Given the description of an element on the screen output the (x, y) to click on. 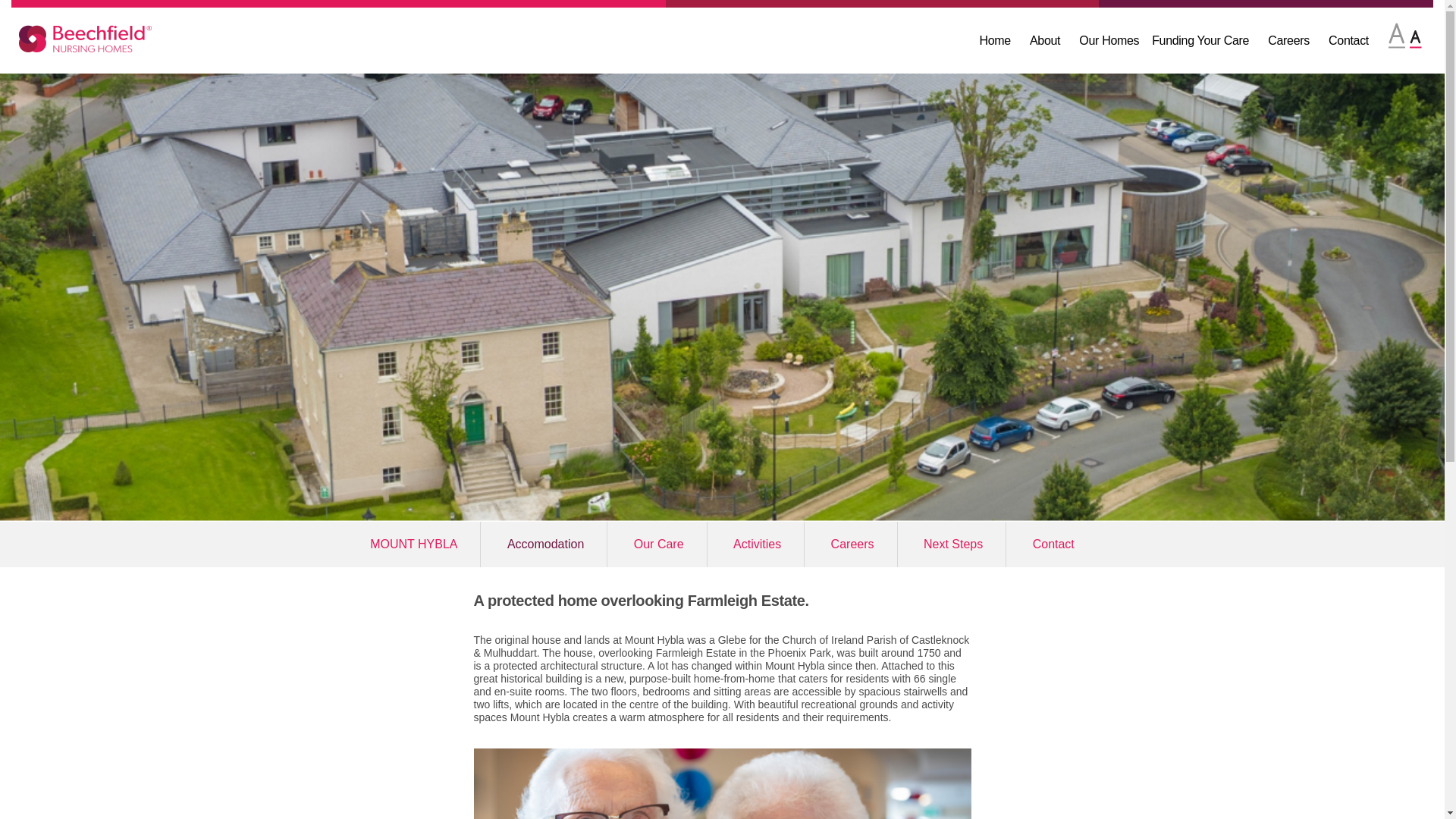
MOUNT HYBLA (413, 543)
Home (994, 40)
Careers (1288, 40)
Our Care (658, 543)
Funding Your Care (1200, 40)
Careers (853, 543)
Contact (1053, 543)
Next Steps (952, 543)
About (1044, 40)
Contact (1347, 40)
Our Homes (1108, 40)
Accomodation (544, 543)
Activities (756, 543)
